Given the description of an element on the screen output the (x, y) to click on. 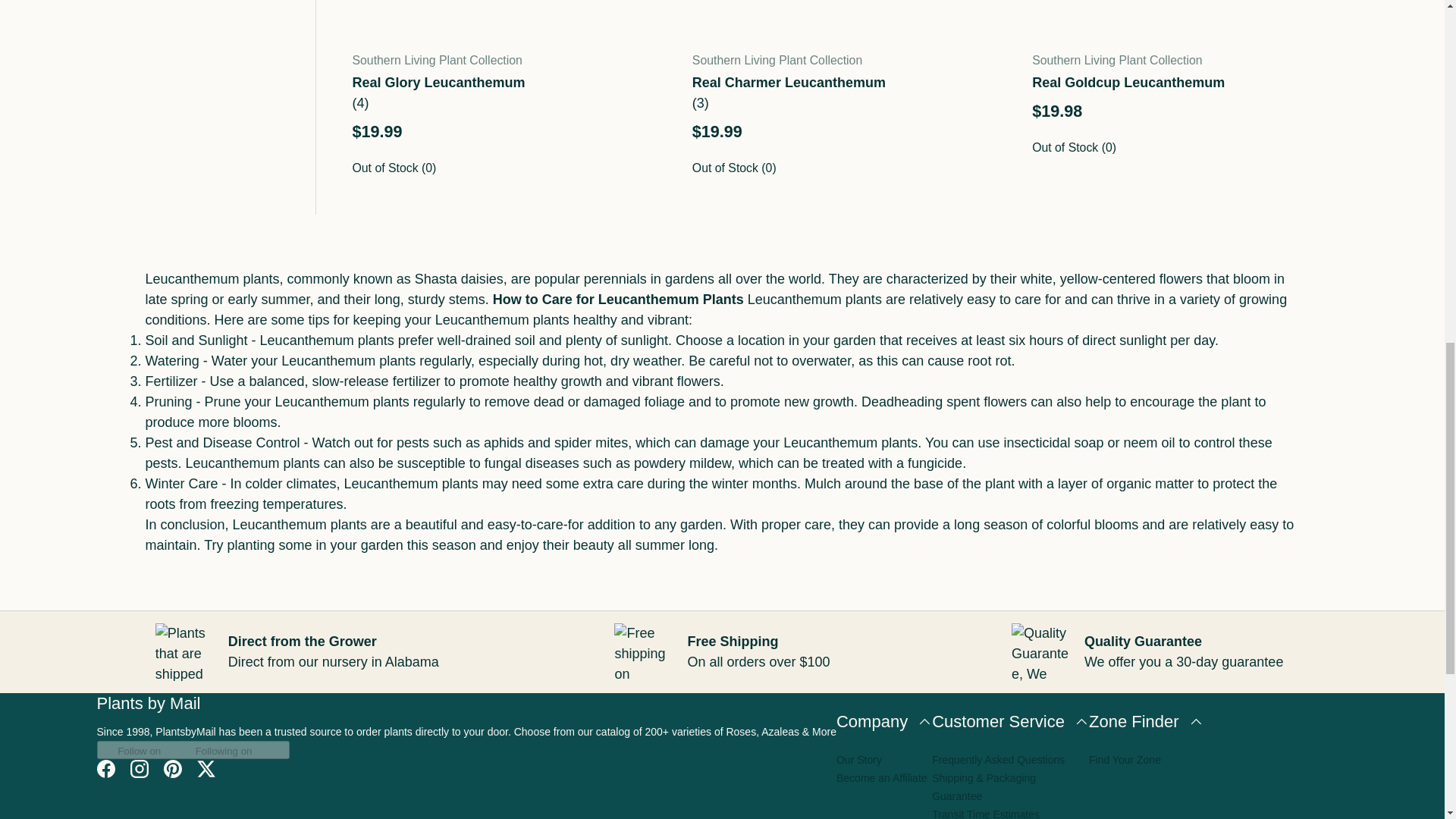
Plants by Mail on Facebook (105, 768)
Plants by Mail on Twitter (205, 768)
Plants by Mail on Pinterest (172, 768)
Plants by Mail on Instagram (138, 768)
